Given the description of an element on the screen output the (x, y) to click on. 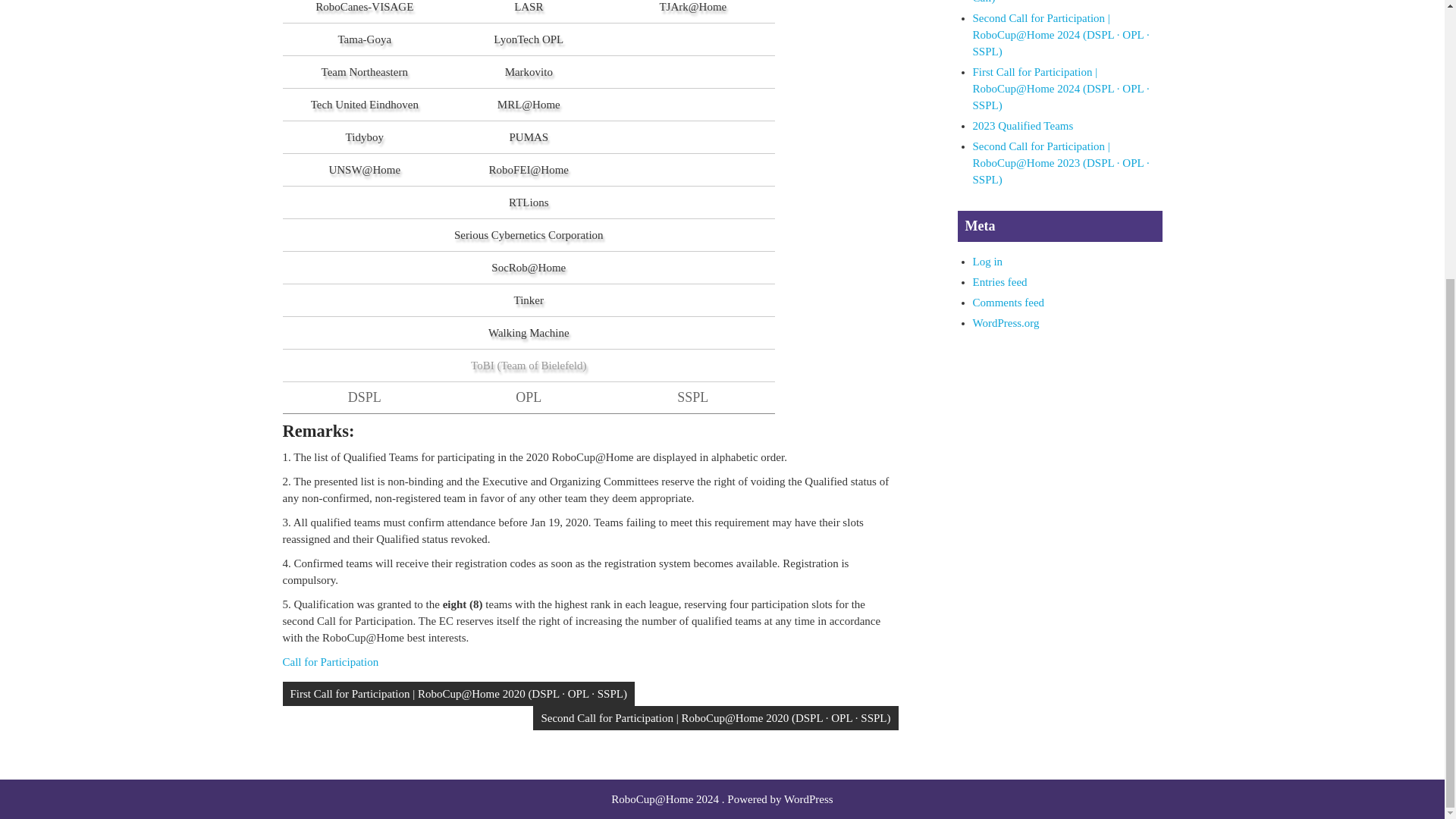
Call for Participation (330, 662)
